Given the description of an element on the screen output the (x, y) to click on. 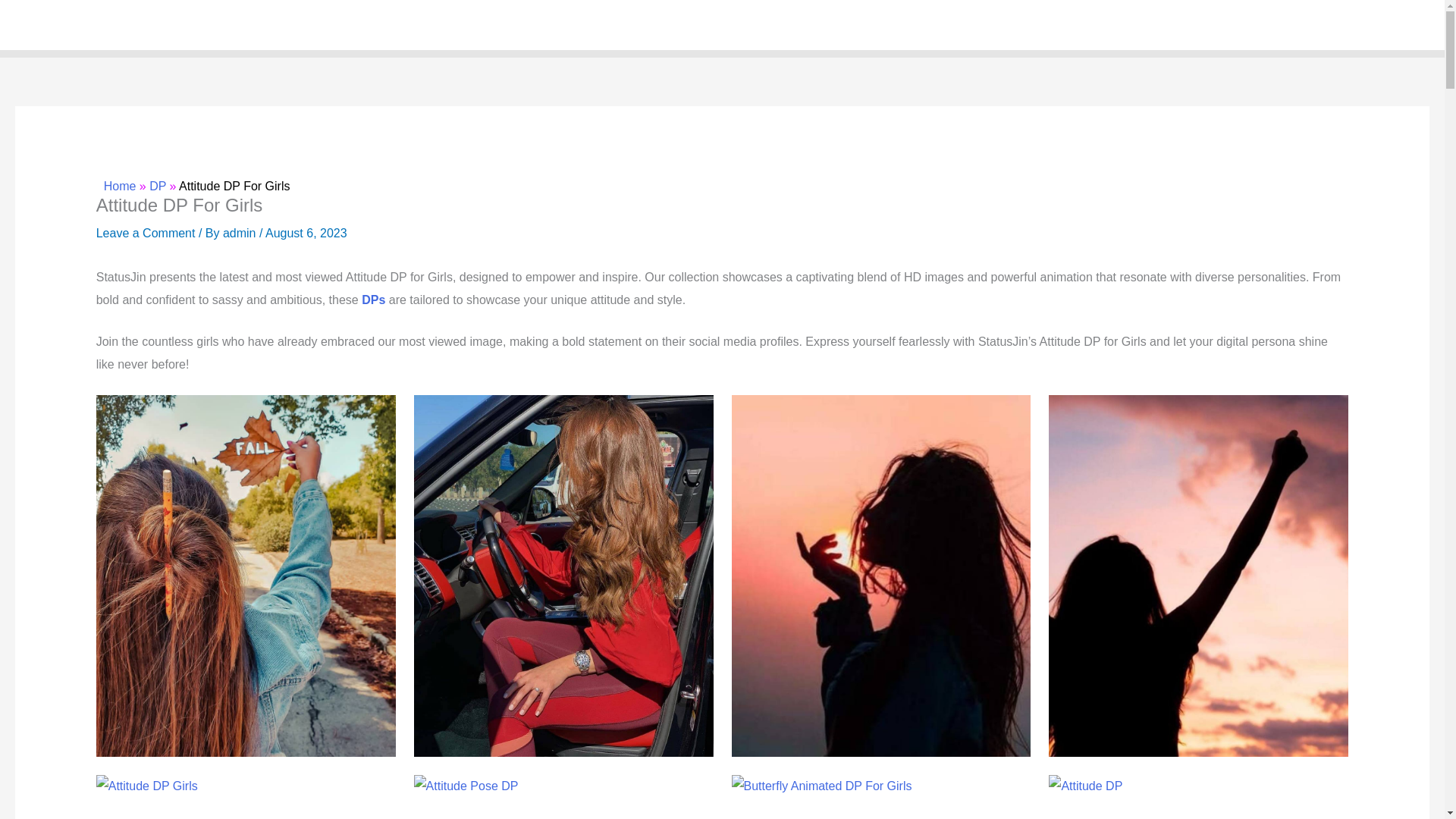
DP (157, 185)
Mehndi Designs (1196, 24)
Home (119, 185)
Shayari (1348, 24)
WhatsApp DP (1089, 24)
Wallpapers (997, 24)
StatusJin (62, 24)
Home (926, 24)
DPs (373, 299)
Blog (1404, 24)
admin (240, 232)
Wishes (1282, 24)
Leave a Comment (145, 232)
View all posts by admin (240, 232)
